Given the description of an element on the screen output the (x, y) to click on. 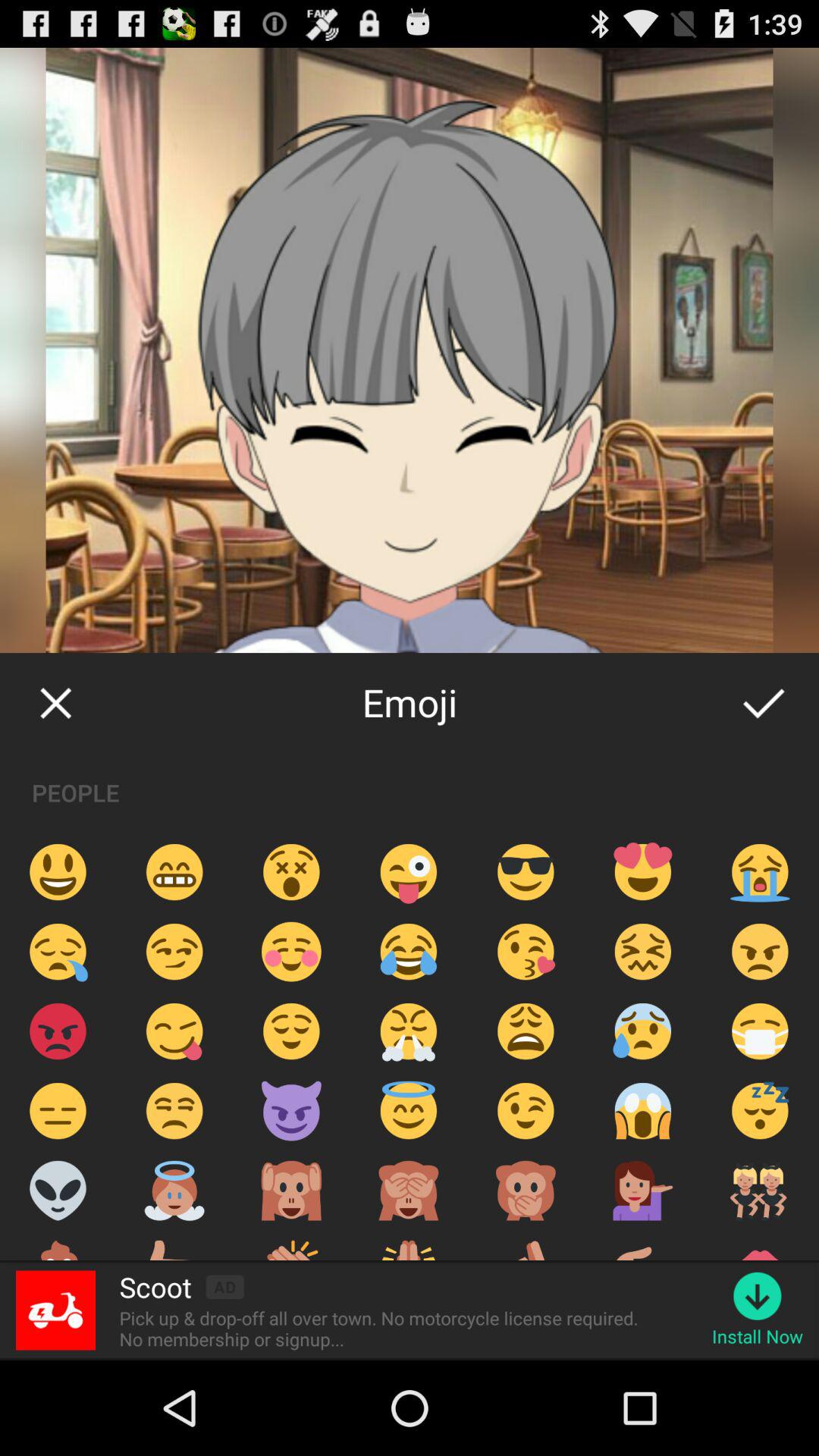
turn on app below scoot (383, 1328)
